Given the description of an element on the screen output the (x, y) to click on. 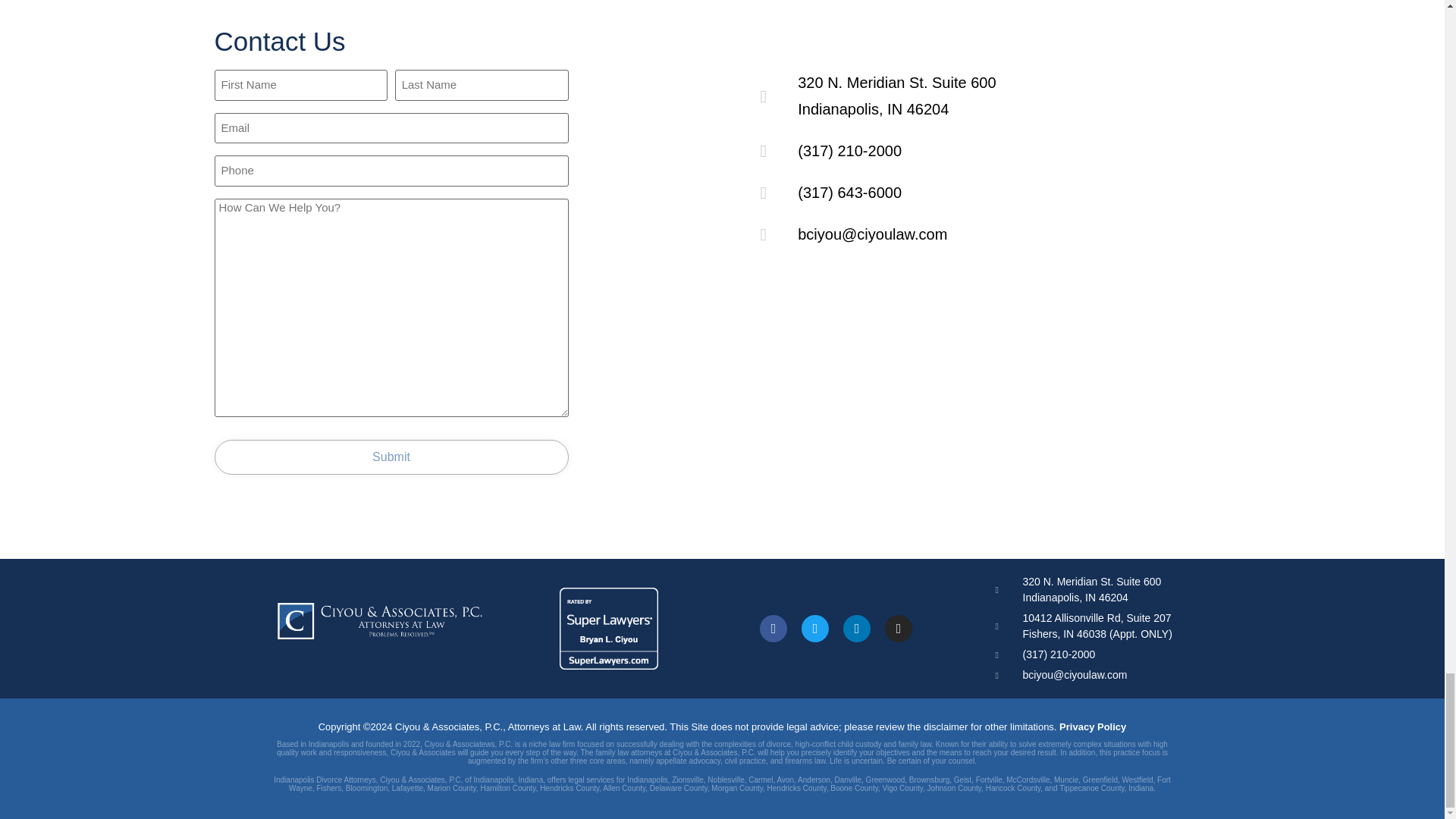
320 N Meridian St, Indianapolis, IN 46204 (976, 376)
Submit (390, 457)
